Given the description of an element on the screen output the (x, y) to click on. 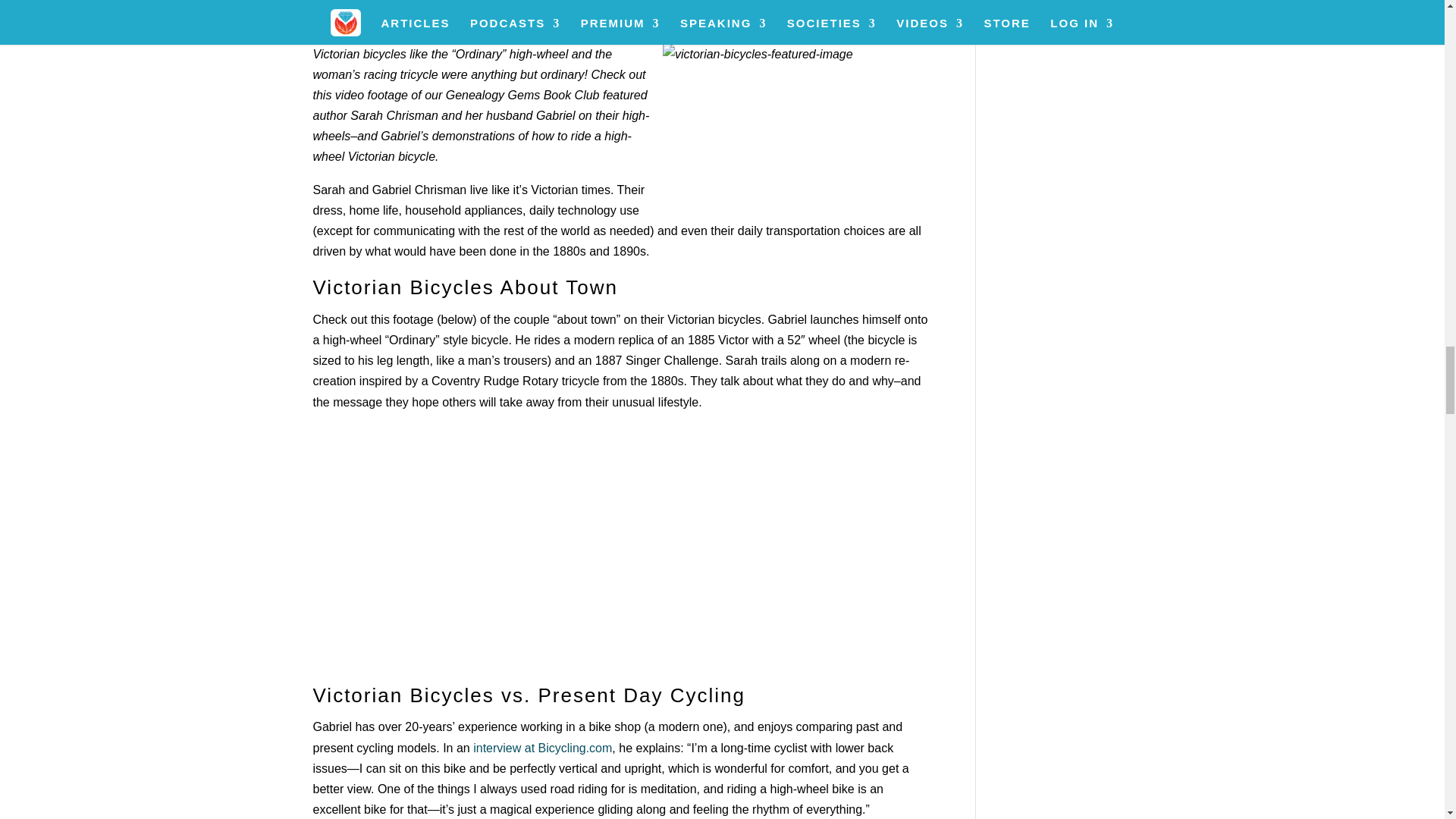
Posts by Lisa Cooke (353, 16)
